Given the description of an element on the screen output the (x, y) to click on. 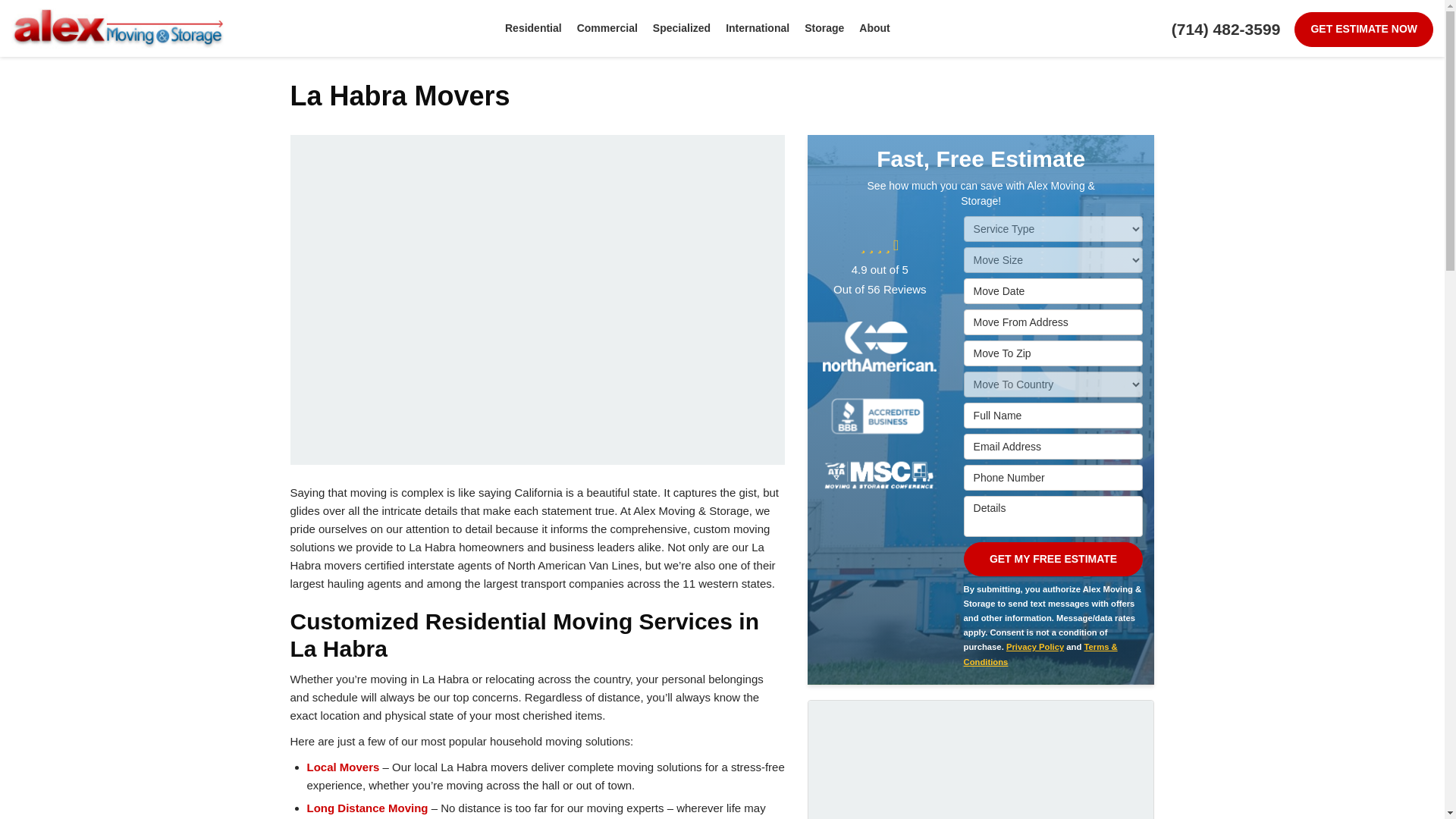
International (756, 28)
Storage (823, 28)
GET ESTIMATE NOW (1363, 29)
Specialized (681, 28)
Commercial (607, 28)
Residential (533, 28)
GET ESTIMATE NOW (1363, 29)
